Given the description of an element on the screen output the (x, y) to click on. 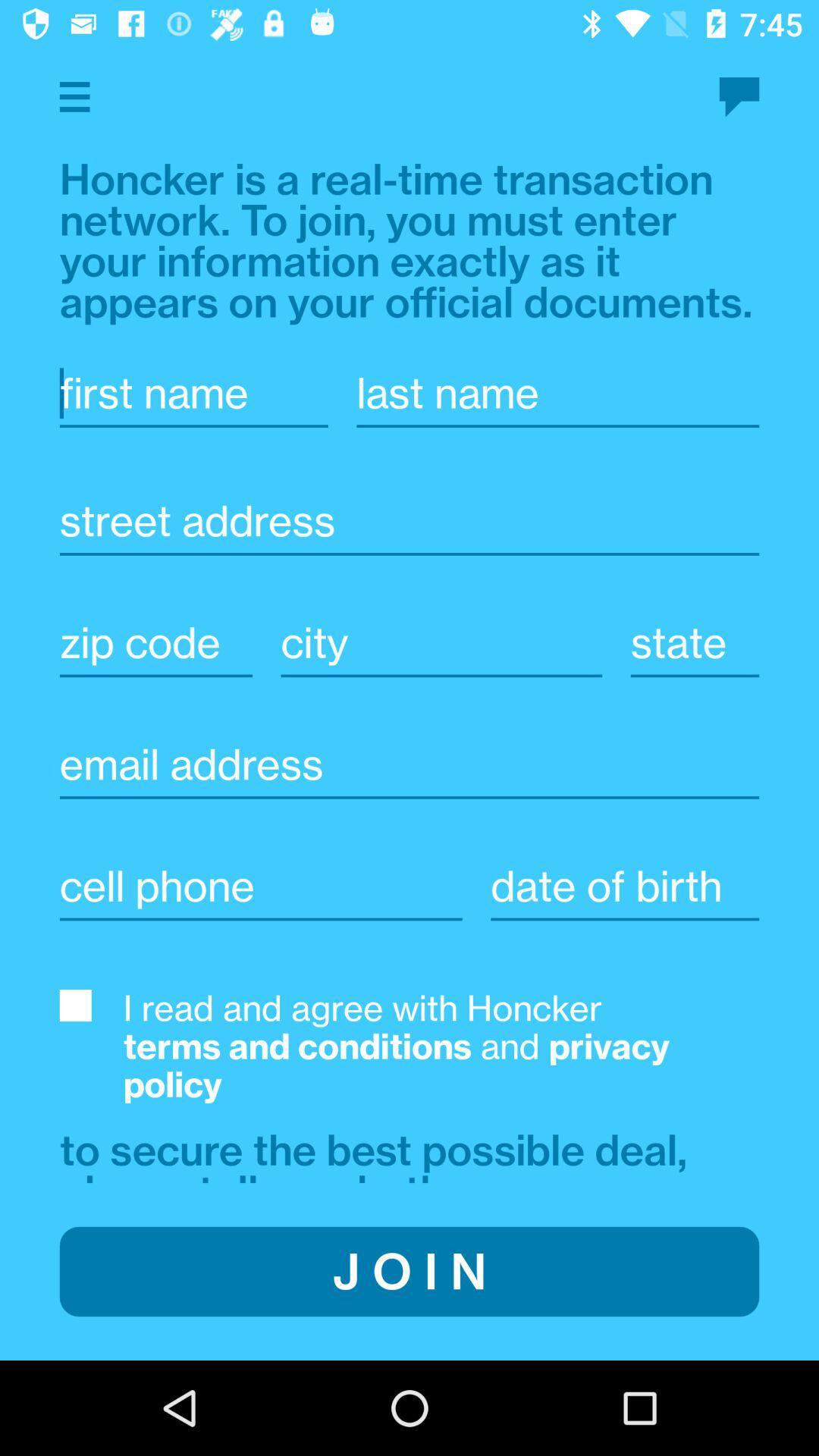
enter last name (557, 392)
